Given the description of an element on the screen output the (x, y) to click on. 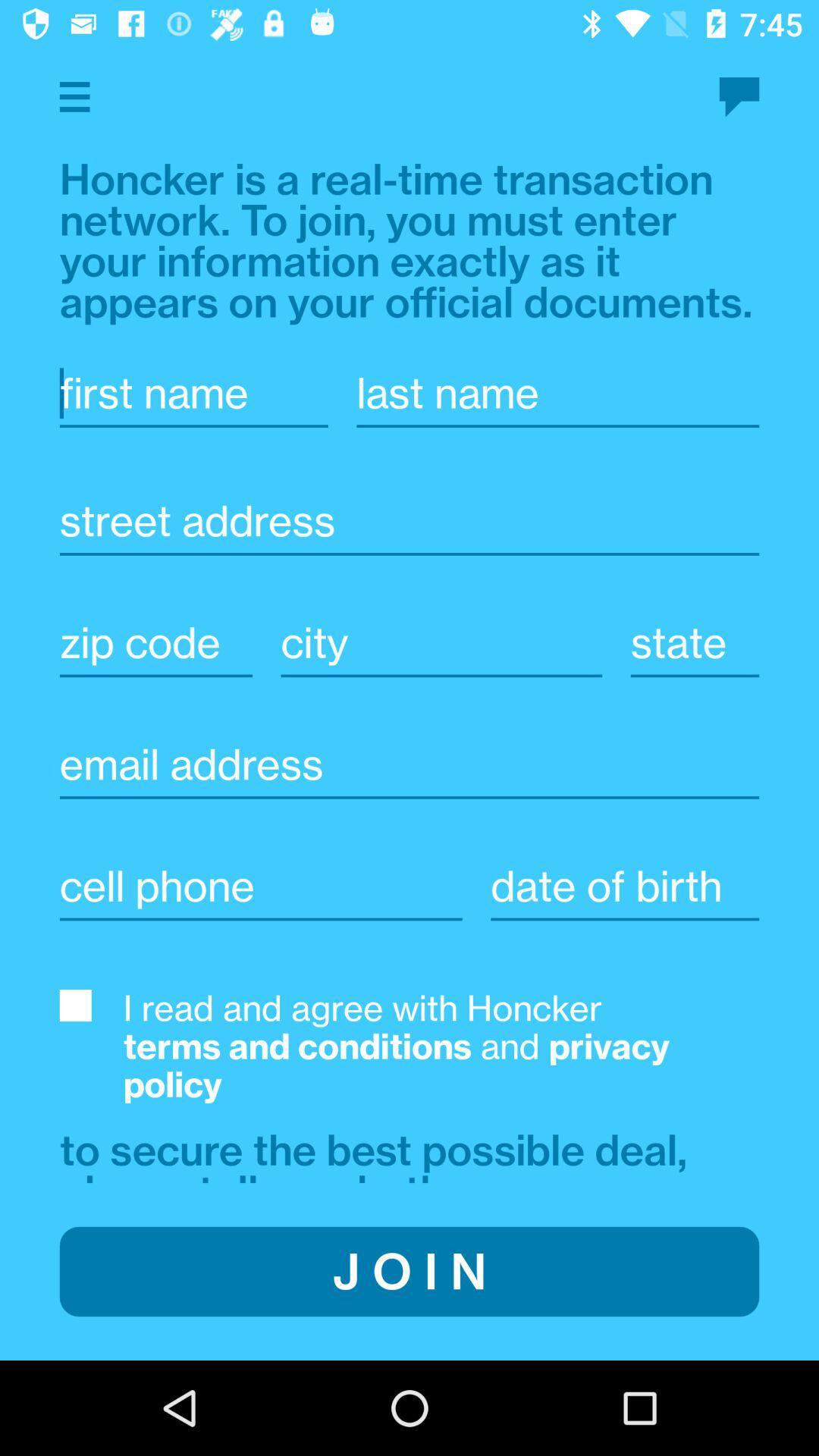
enter last name (557, 392)
